Given the description of an element on the screen output the (x, y) to click on. 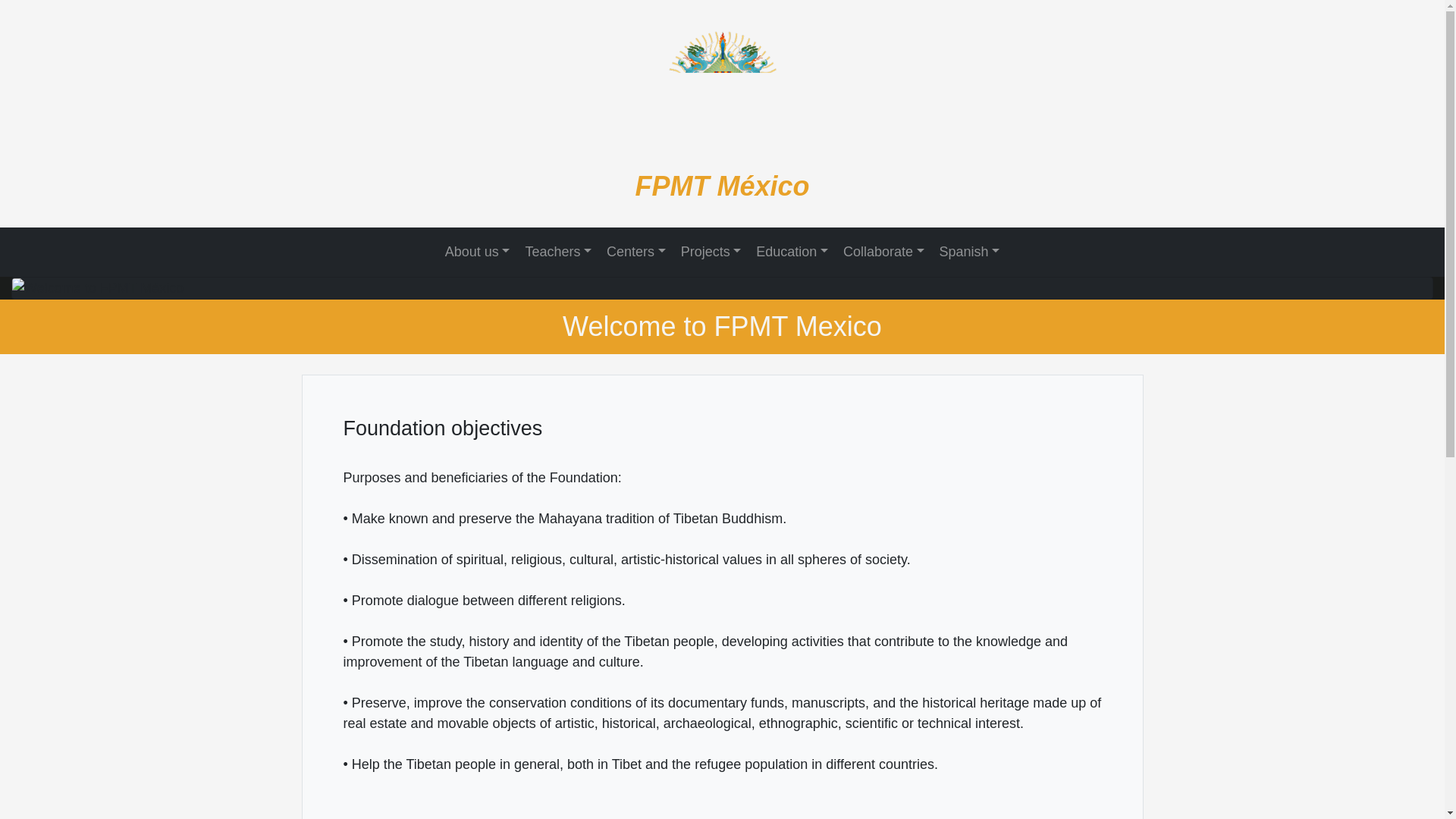
Projects (711, 252)
Spanish (970, 252)
Teachers (558, 252)
Centers (635, 252)
Collaborate (883, 252)
About us (477, 252)
Education (791, 252)
